Given the description of an element on the screen output the (x, y) to click on. 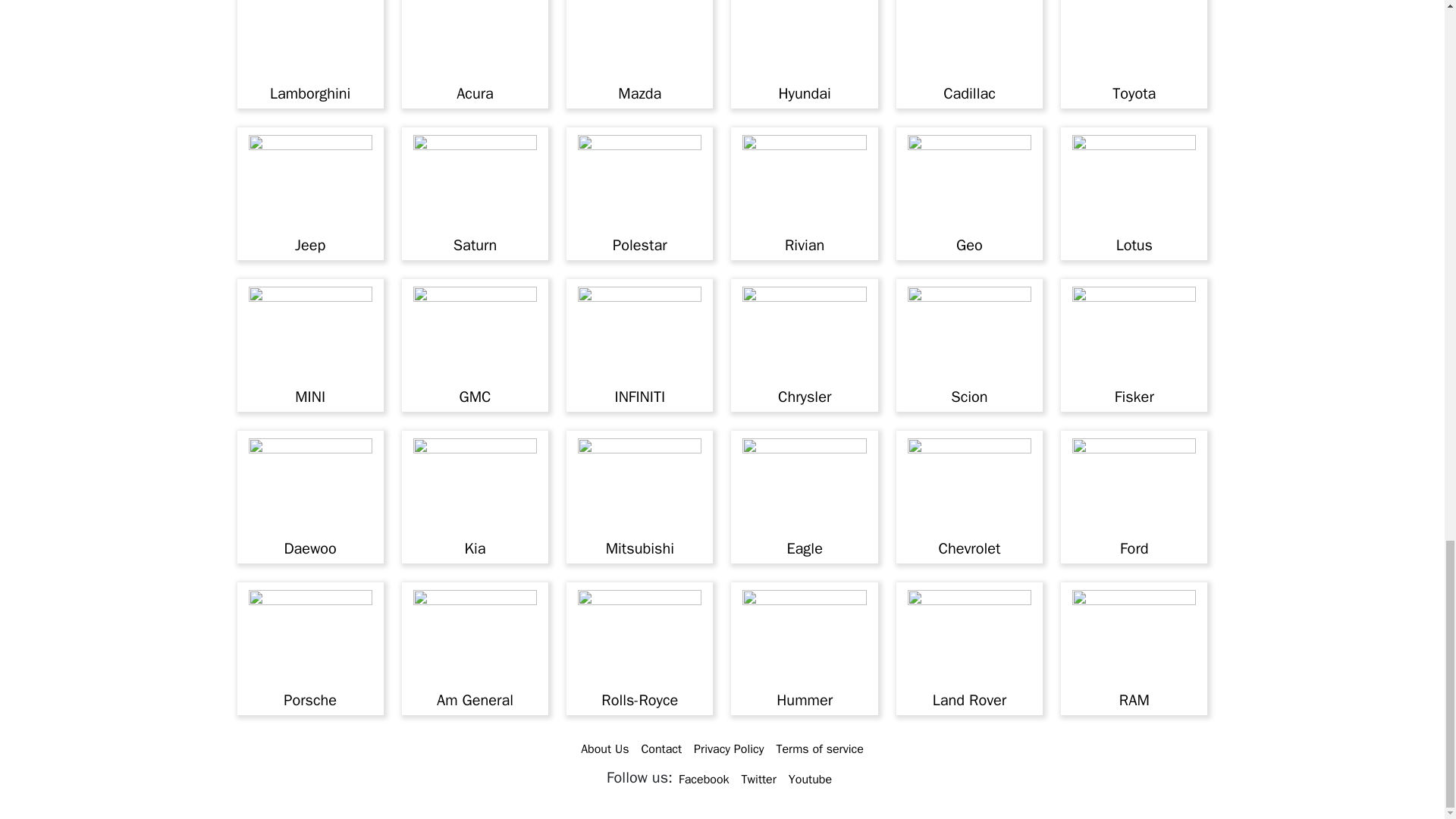
Rivian (804, 244)
Lamborghini (309, 93)
Cadillac (969, 93)
Polestar (639, 244)
Mazda (639, 93)
Acura (475, 93)
Saturn (474, 244)
Jeep (309, 244)
Hyundai (804, 93)
Toyota (1134, 93)
